Given the description of an element on the screen output the (x, y) to click on. 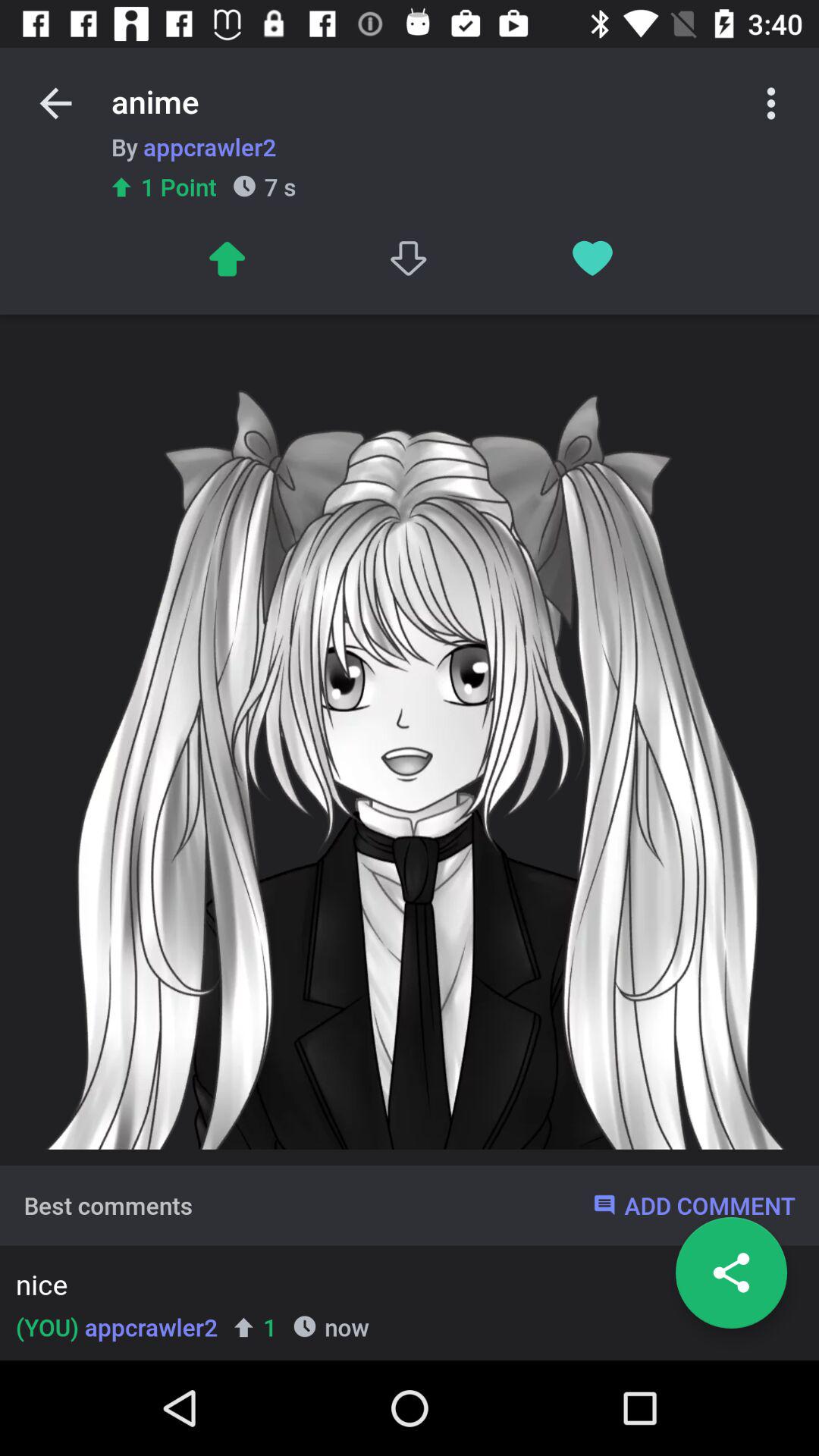
toggle like photo option (592, 258)
